Given the description of an element on the screen output the (x, y) to click on. 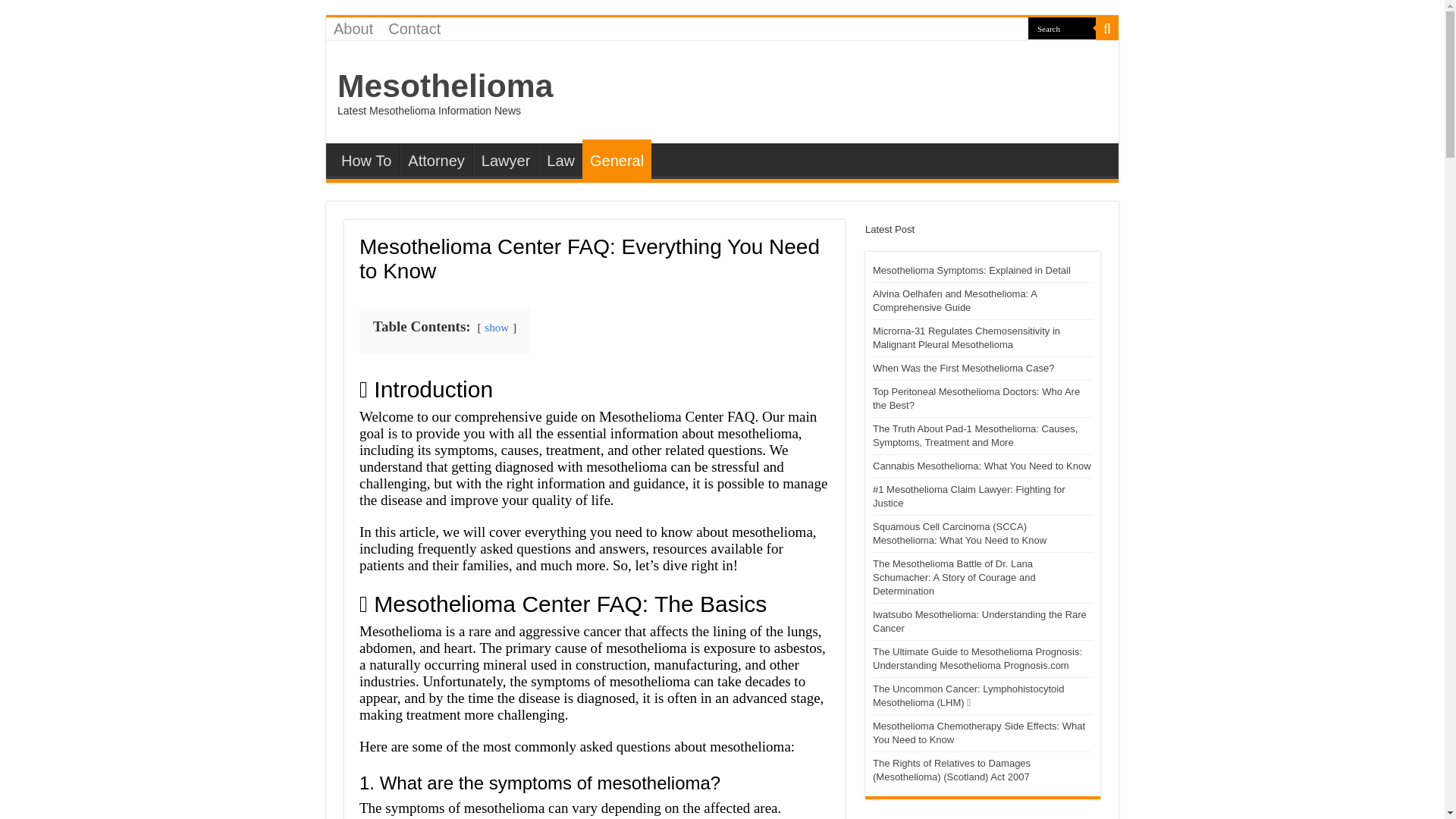
Mesothelioma (445, 85)
Search (1061, 28)
Attorney (434, 159)
Search (1061, 28)
About (353, 28)
Contact (414, 28)
General (616, 159)
show (496, 327)
Law (560, 159)
Search (1061, 28)
